Given the description of an element on the screen output the (x, y) to click on. 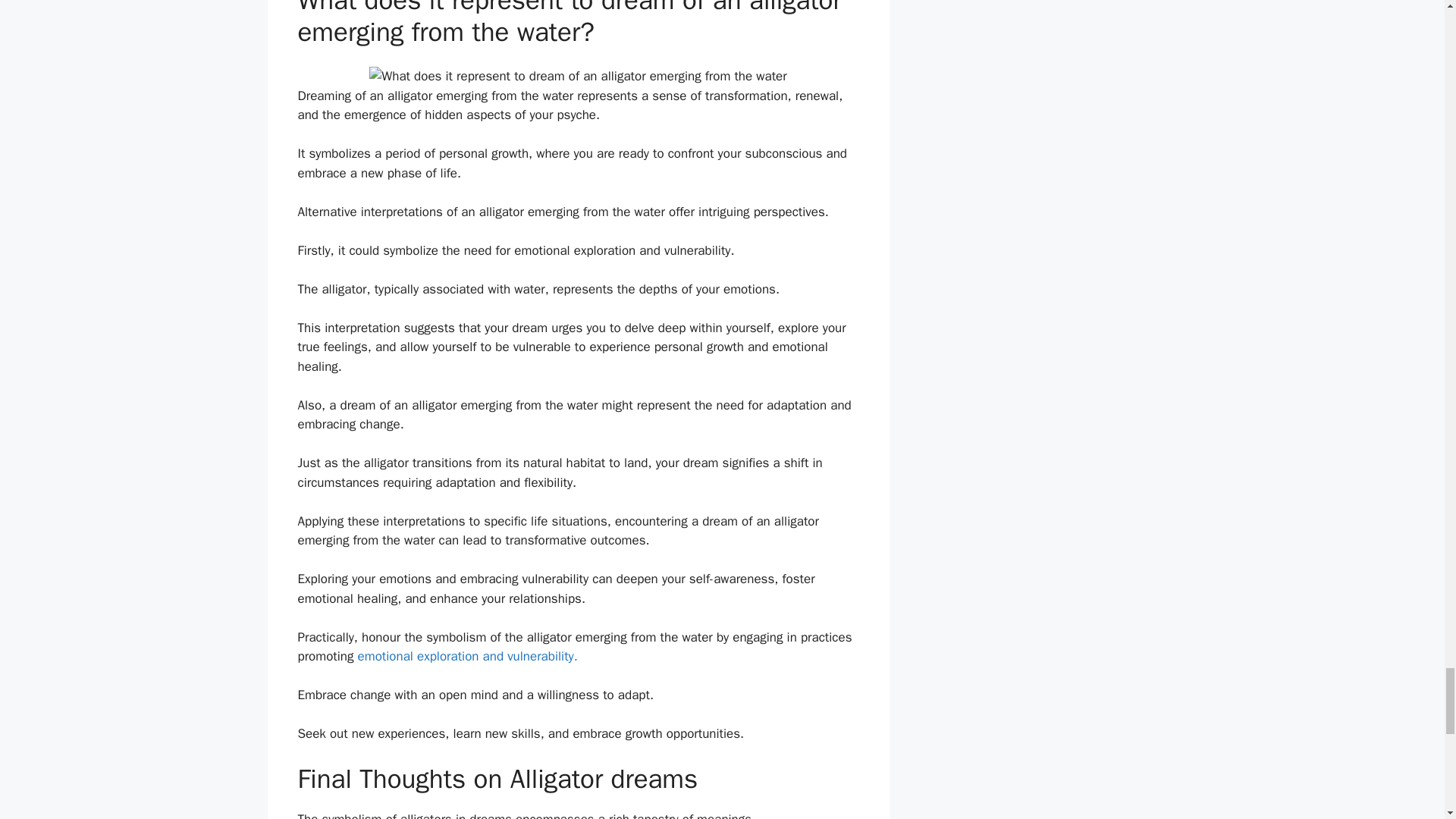
emotional exploration and vulnerability. (468, 656)
